Given the description of an element on the screen output the (x, y) to click on. 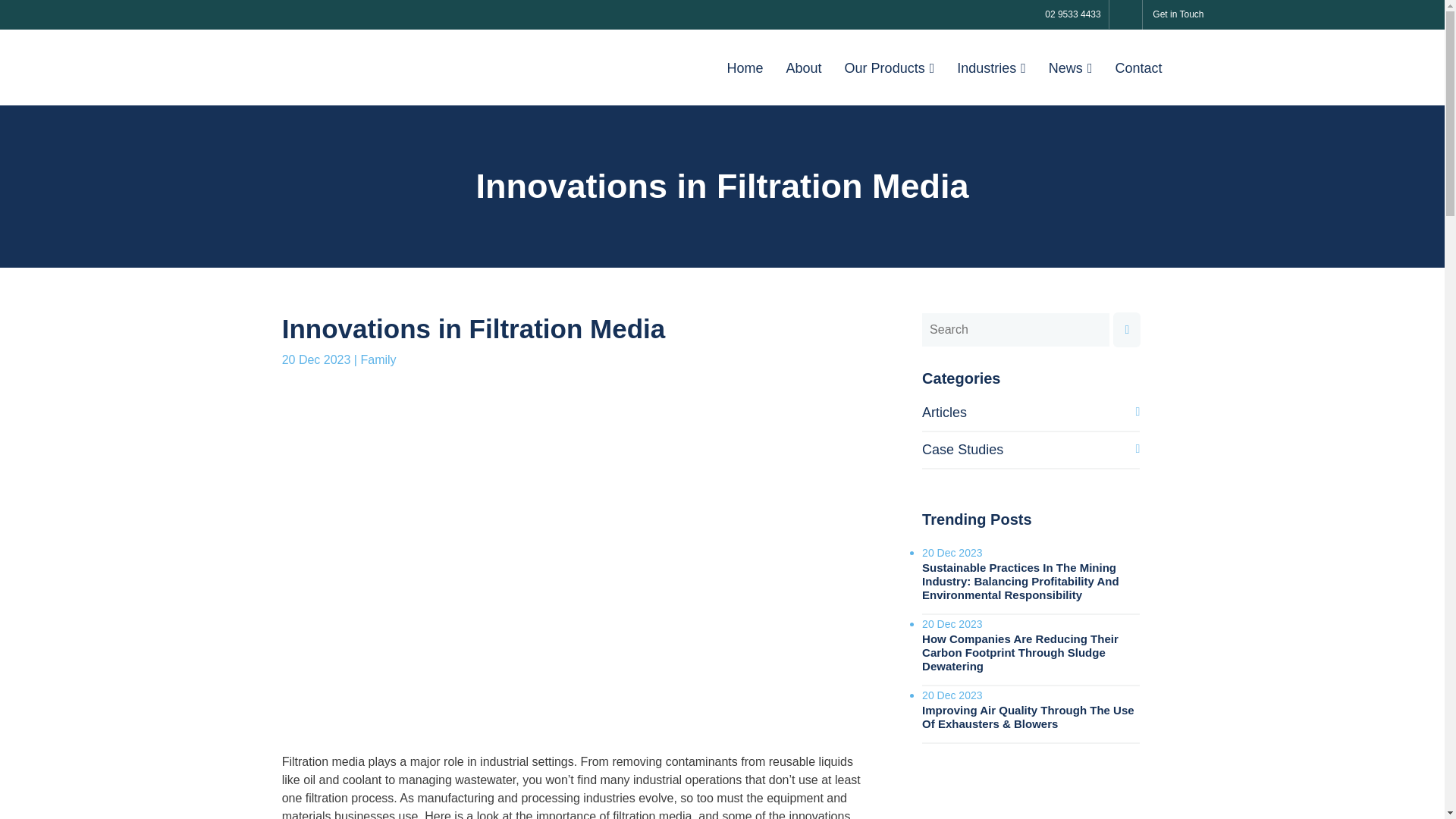
Case Studies (962, 449)
News (1069, 68)
Home (745, 68)
About (803, 68)
Get in Touch (1178, 14)
Articles (943, 412)
Our Products (889, 68)
02 9533 4433 (1072, 14)
